Given the description of an element on the screen output the (x, y) to click on. 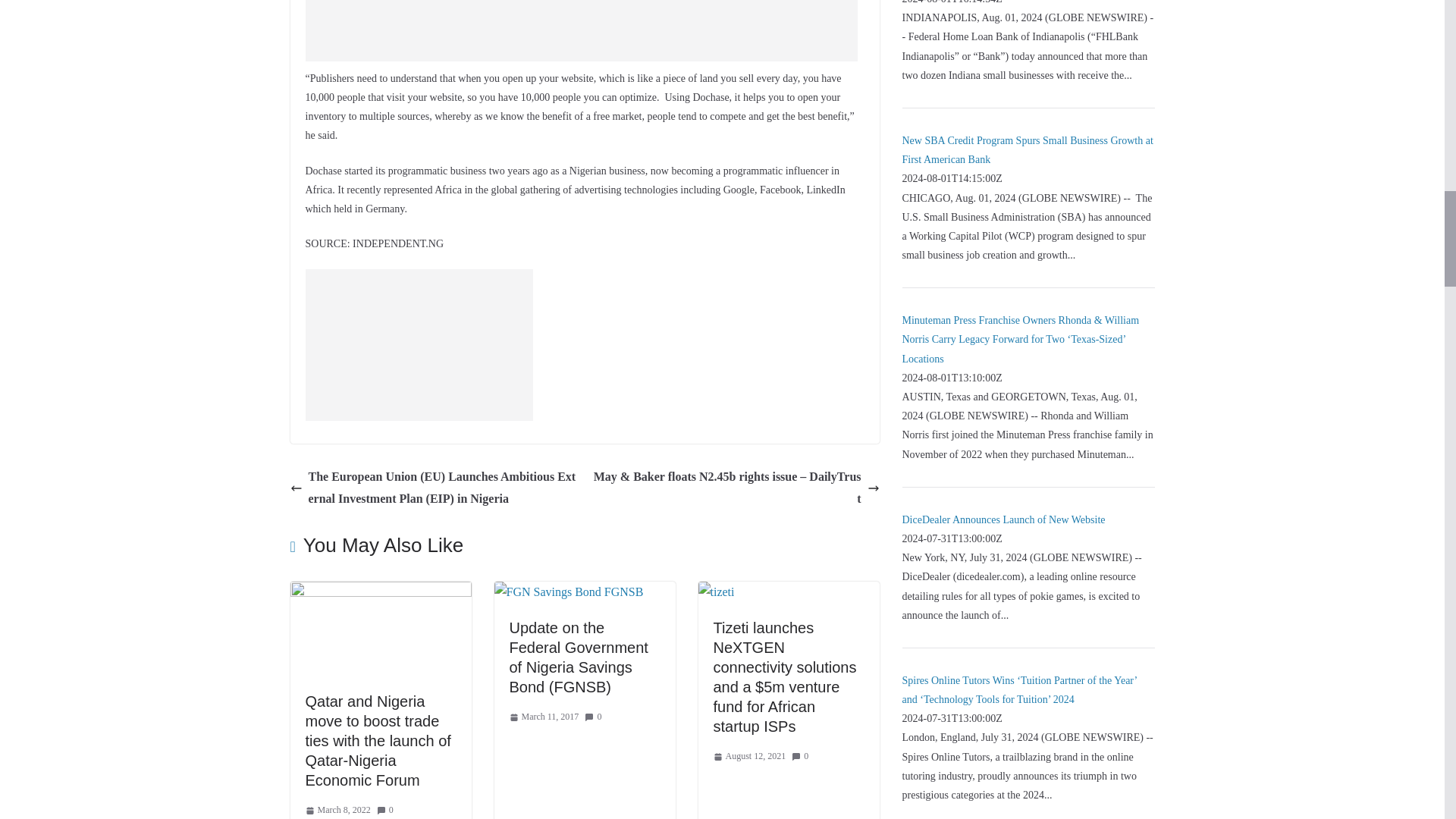
March 8, 2022 (336, 810)
8:32 pm (336, 810)
